Given the description of an element on the screen output the (x, y) to click on. 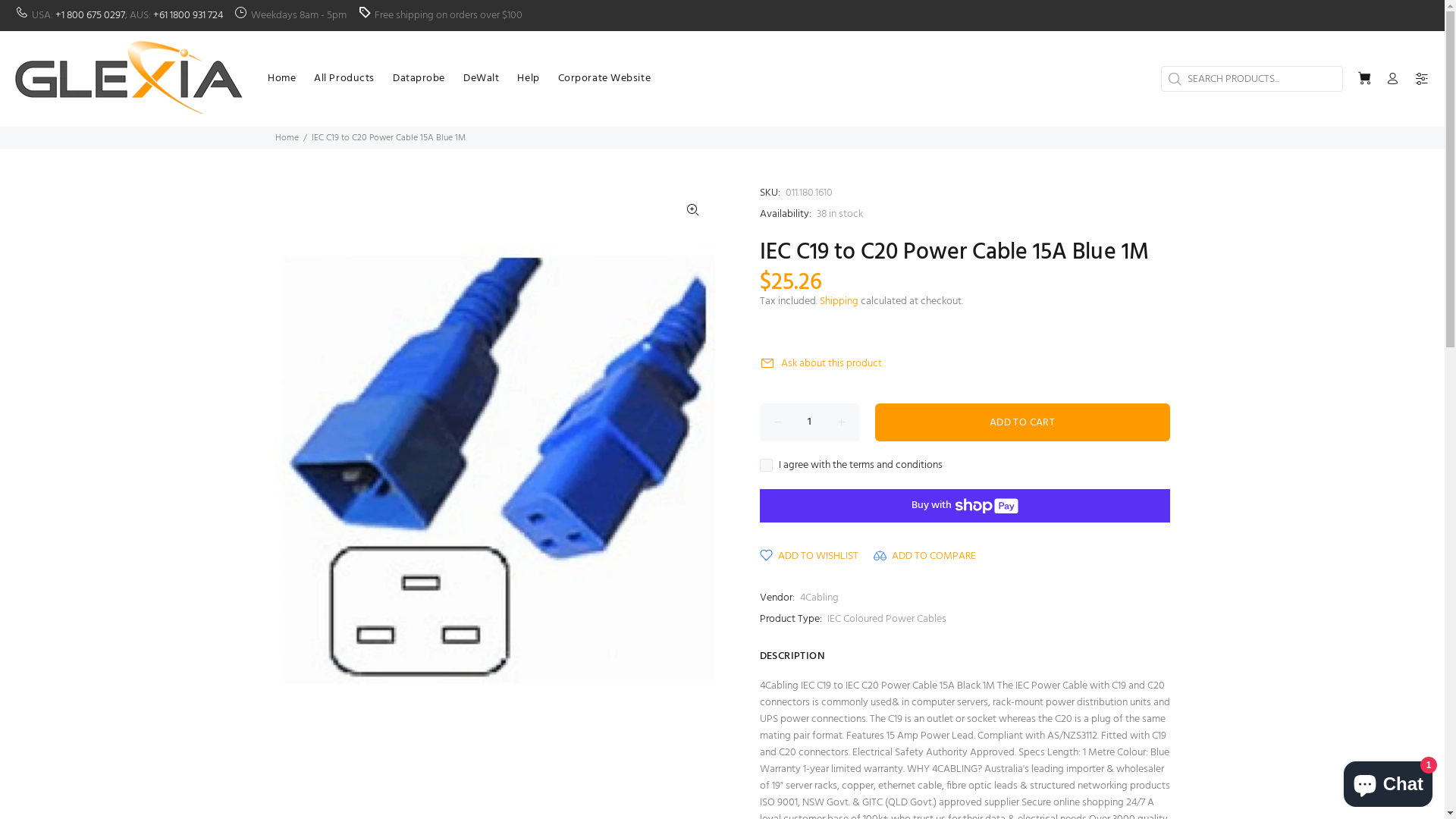
Shopify online store chat Element type: hover (1388, 780)
ADD TO CART Element type: text (1022, 422)
Corporate Website Element type: text (600, 78)
+61 1800 931 724 Element type: text (187, 15)
ADD TO WISHLIST Element type: text (808, 555)
ADD TO COMPARE Element type: text (924, 555)
Ask about this product Element type: text (825, 363)
All Products Element type: text (343, 78)
Help Element type: text (528, 78)
+1 800 675 0297 Element type: text (90, 15)
Home Element type: text (286, 137)
Dataprobe Element type: text (418, 78)
DeWalt Element type: text (481, 78)
Shipping Element type: text (838, 301)
IEC Coloured Power Cables Element type: text (885, 618)
4Cabling Element type: text (818, 597)
Home Element type: text (281, 78)
